Given the description of an element on the screen output the (x, y) to click on. 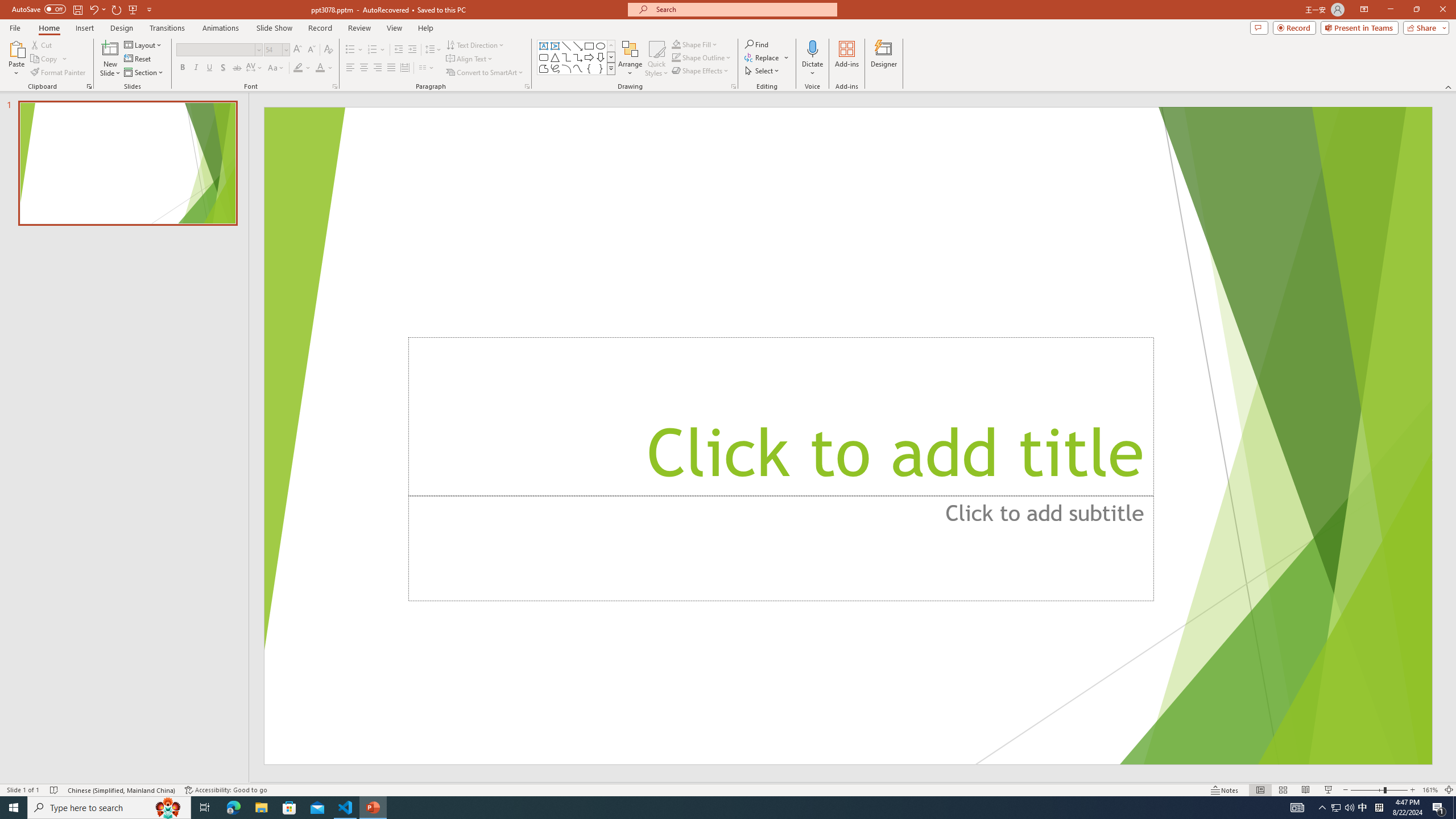
Font Color Red (320, 67)
Cut (42, 44)
Shape Fill (694, 44)
Font Color (324, 67)
Paste (16, 48)
Increase Indent (412, 49)
Text Box (543, 45)
Save (77, 9)
Reset (138, 58)
Shape Fill Dark Green, Accent 2 (675, 44)
Replace... (762, 56)
Spell Check No Errors (54, 790)
Section (144, 72)
Freeform: Scribble (554, 68)
Bold (182, 67)
